Given the description of an element on the screen output the (x, y) to click on. 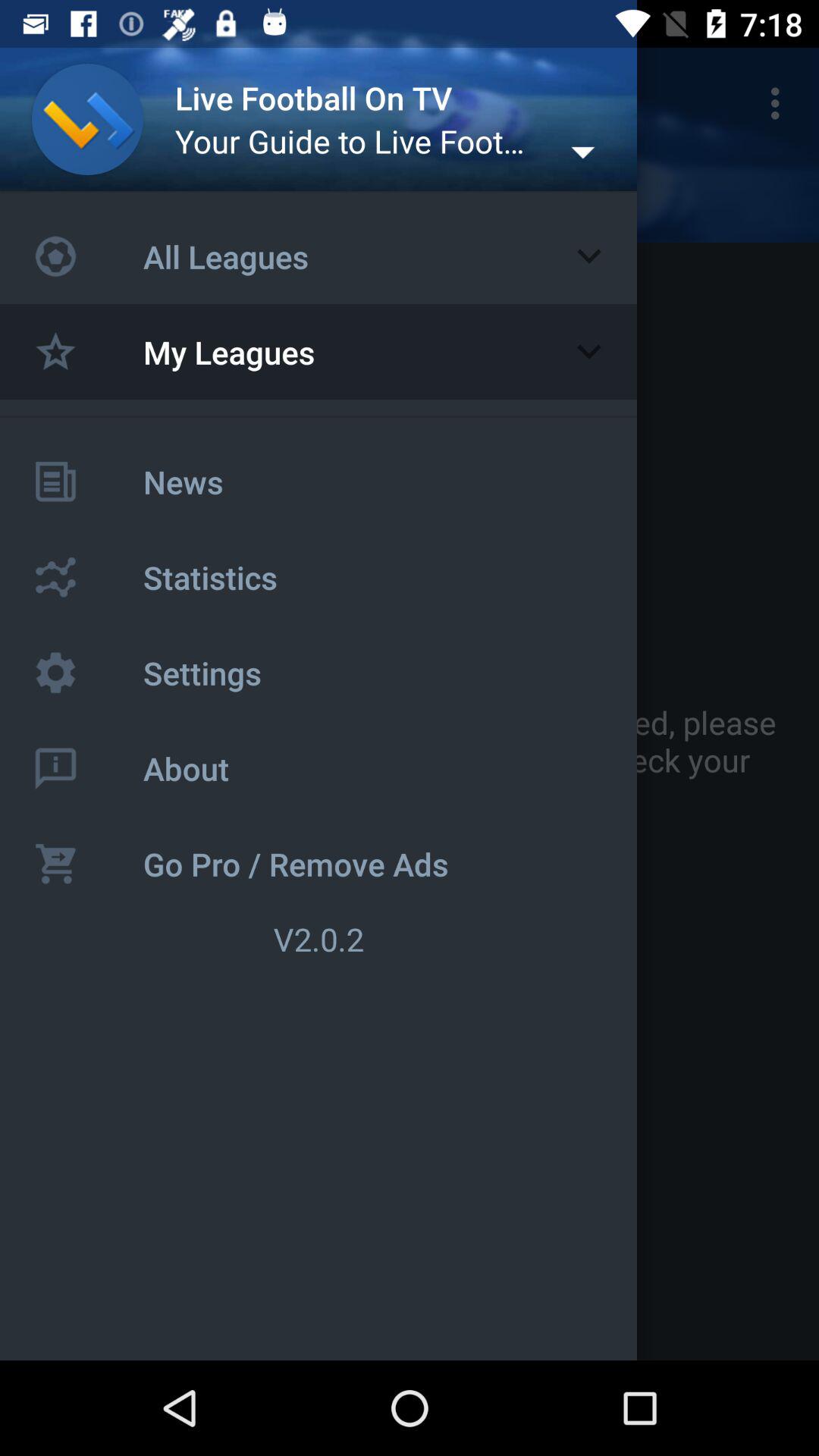
go to home page (87, 119)
